Given the description of an element on the screen output the (x, y) to click on. 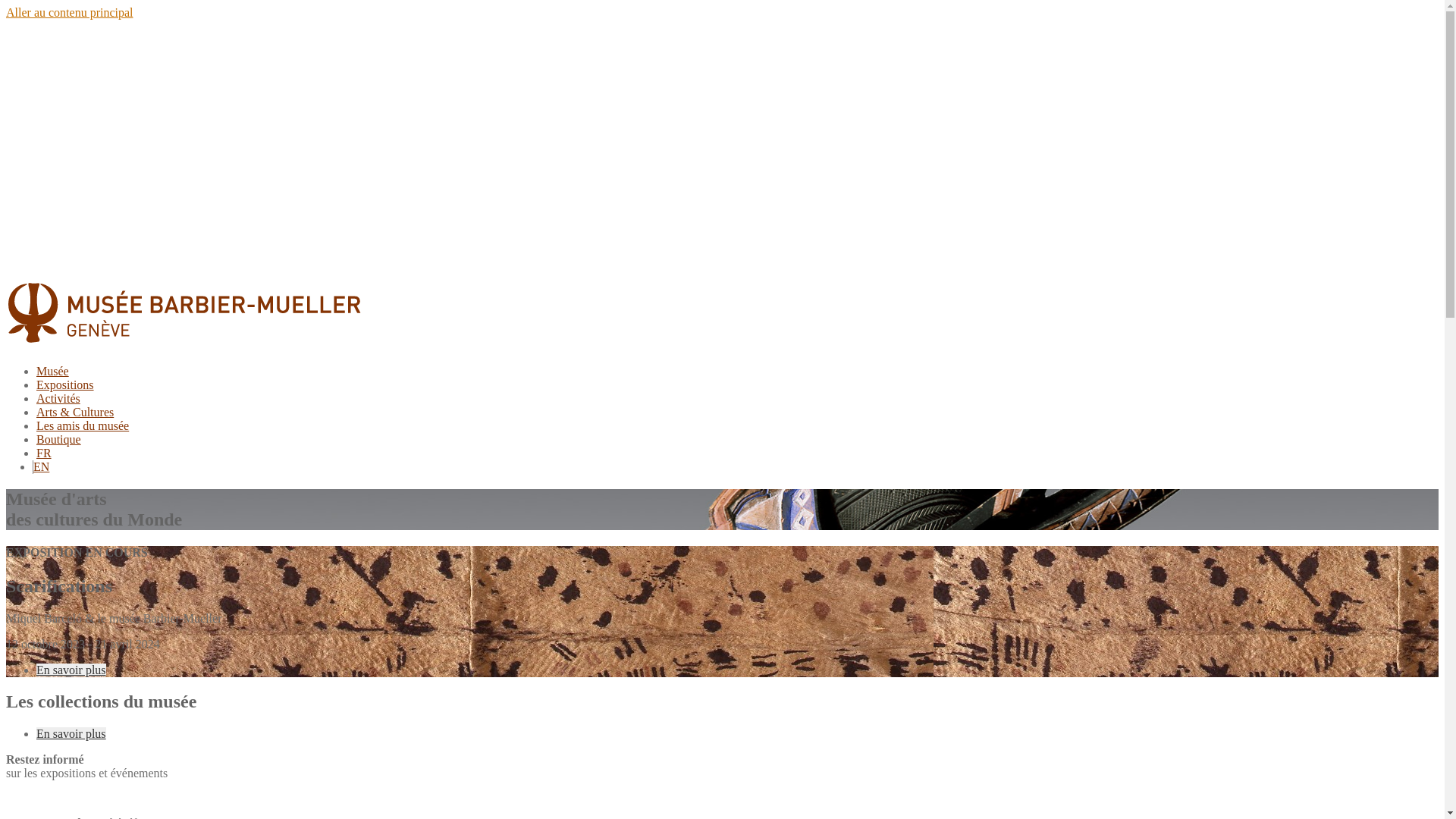
En savoir plus Element type: text (71, 733)
Arts & Cultures Element type: text (74, 411)
Boutique Element type: text (58, 439)
Aller au contenu principal Element type: text (69, 12)
EN Element type: text (41, 466)
FR Element type: text (43, 452)
Expositions Element type: text (65, 384)
En savoir plus Element type: text (71, 668)
